Given the description of an element on the screen output the (x, y) to click on. 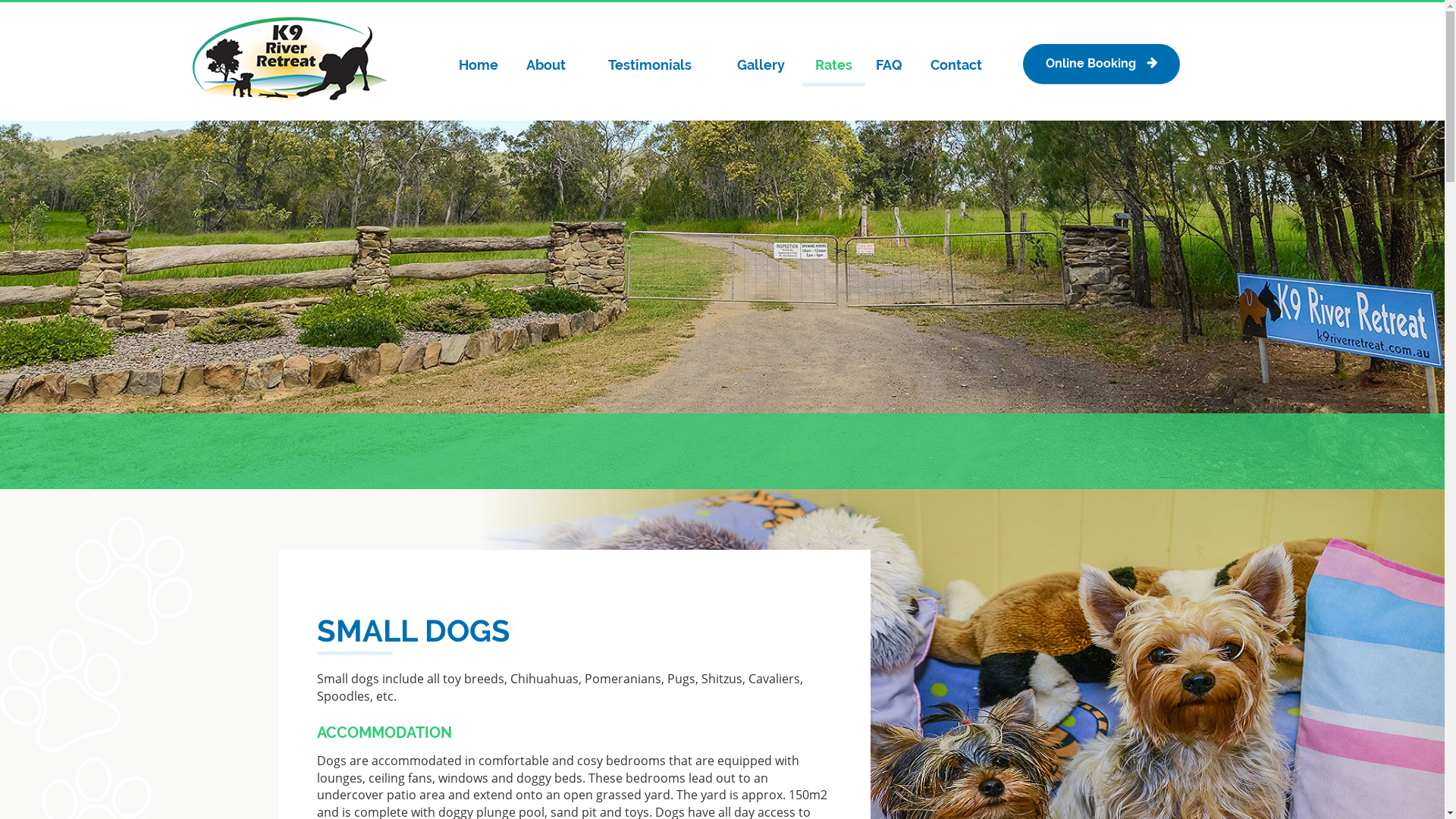
Home Element type: text (478, 64)
Contact Element type: text (956, 64)
Rates Element type: text (833, 64)
Gallery Element type: text (760, 64)
Online Booking Element type: text (1100, 63)
About Element type: text (546, 64)
Testimonials Element type: text (649, 64)
FAQ Element type: text (888, 64)
